Given the description of an element on the screen output the (x, y) to click on. 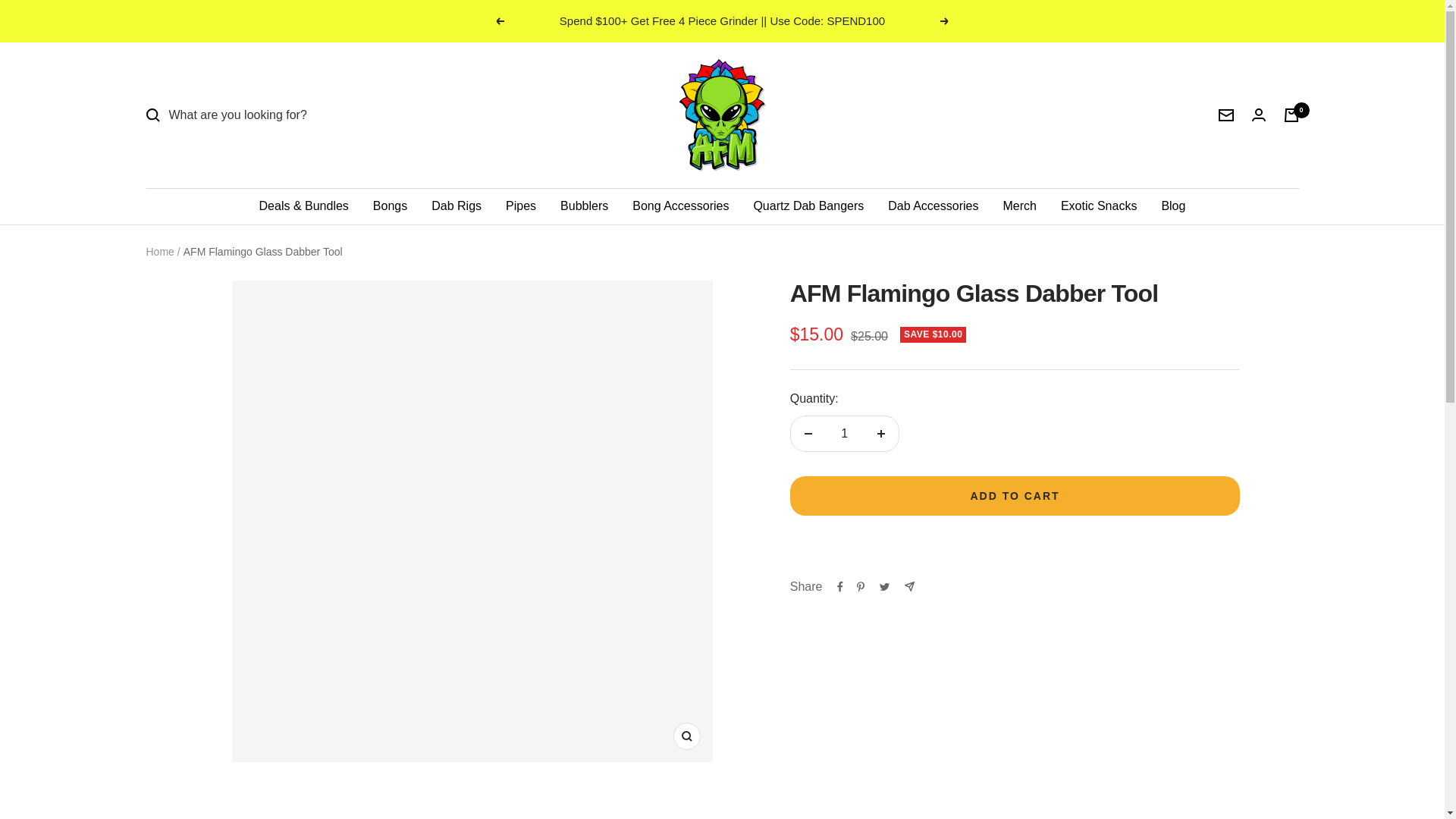
Bongs (389, 206)
Quartz Dab Bangers (807, 206)
0 (1290, 115)
1 (844, 433)
Next (944, 21)
Dab Rigs (455, 206)
AFM Smoke (721, 114)
Newsletter (1225, 114)
Previous (499, 21)
Bubblers (584, 206)
Bong Accessories (680, 206)
Dab Accessories (933, 206)
Blog (1172, 206)
Exotic Snacks (1099, 206)
Pipes (520, 206)
